Given the description of an element on the screen output the (x, y) to click on. 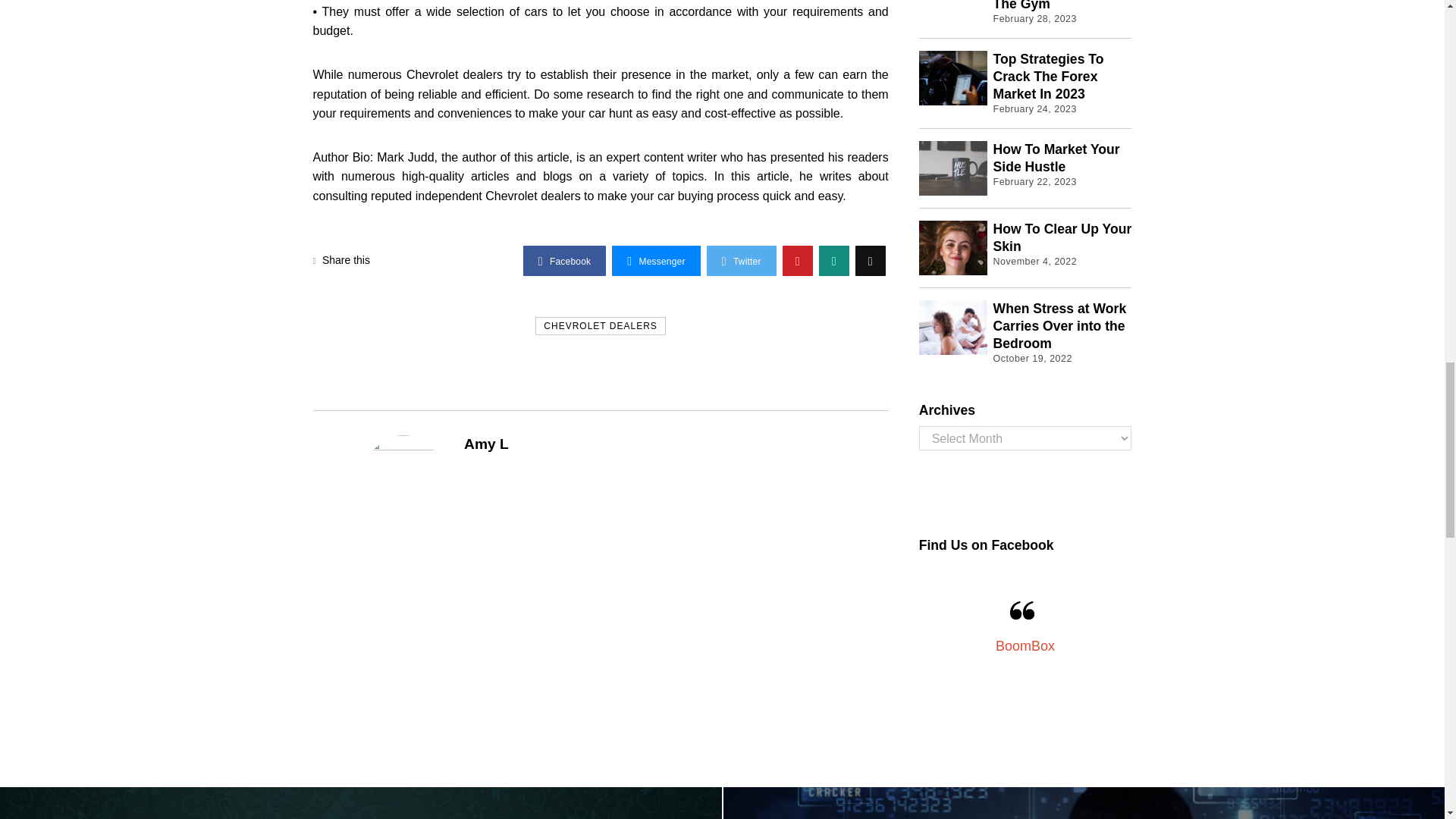
CHEVROLET DEALERS (600, 325)
Facebook (564, 260)
Messenger (655, 260)
Twitter (741, 260)
Amy L (486, 442)
